Given the description of an element on the screen output the (x, y) to click on. 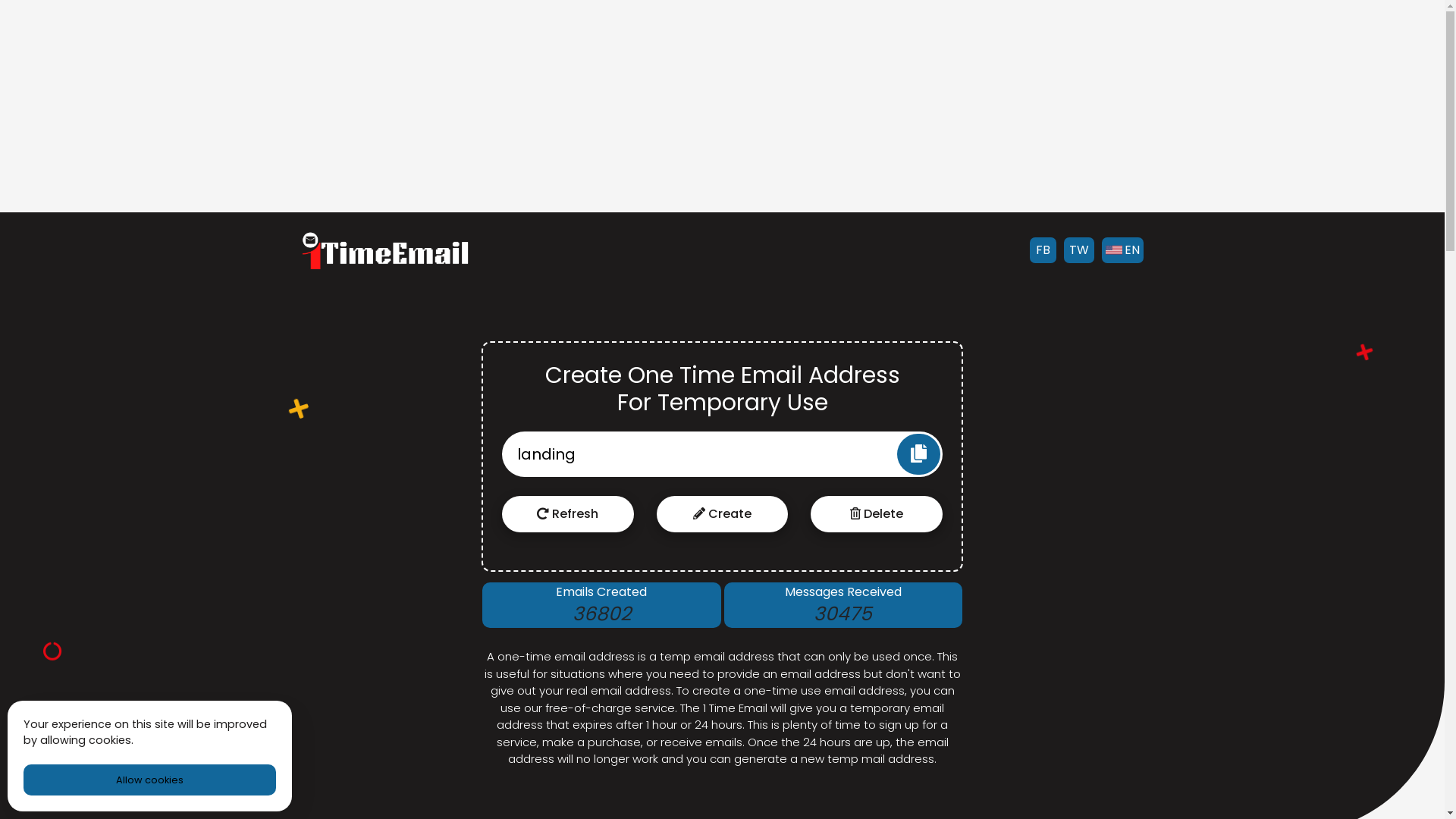
Create Element type: text (722, 513)
Refresh Element type: text (567, 513)
EN Element type: text (1121, 250)
Advertisement Element type: hover (721, 106)
Delete Element type: text (876, 513)
TW Element type: text (1078, 250)
FB Element type: text (1042, 250)
Allow cookies Element type: text (149, 779)
